Given the description of an element on the screen output the (x, y) to click on. 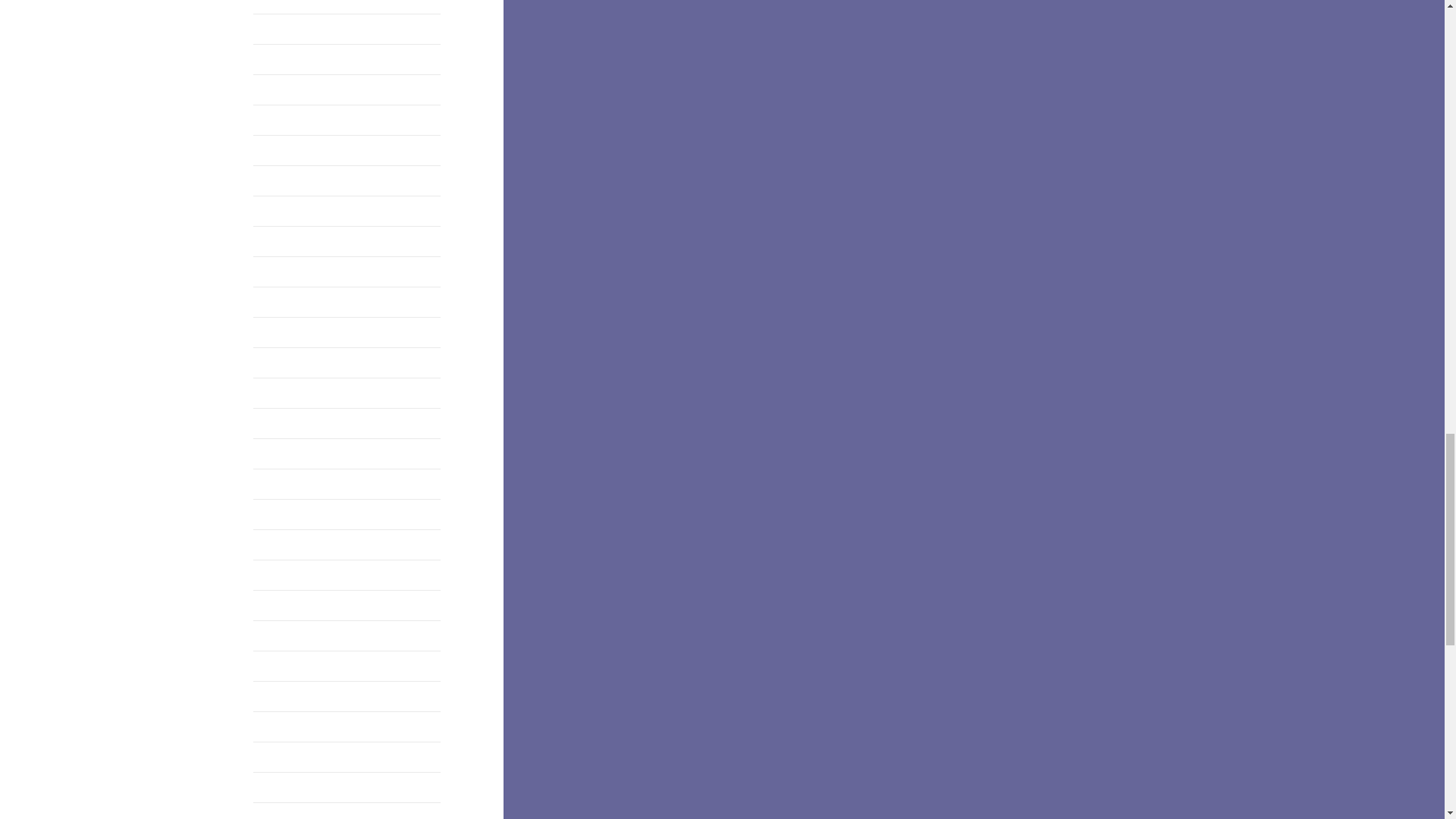
December 2015 (296, 544)
June 2016 (281, 362)
May 2017 (279, 89)
February 2016 (292, 483)
March 2017 (285, 150)
October 2016 (289, 271)
April 2016 (280, 422)
September 2016 (297, 301)
May 2016 (279, 392)
August 2017 (287, 2)
